Given the description of an element on the screen output the (x, y) to click on. 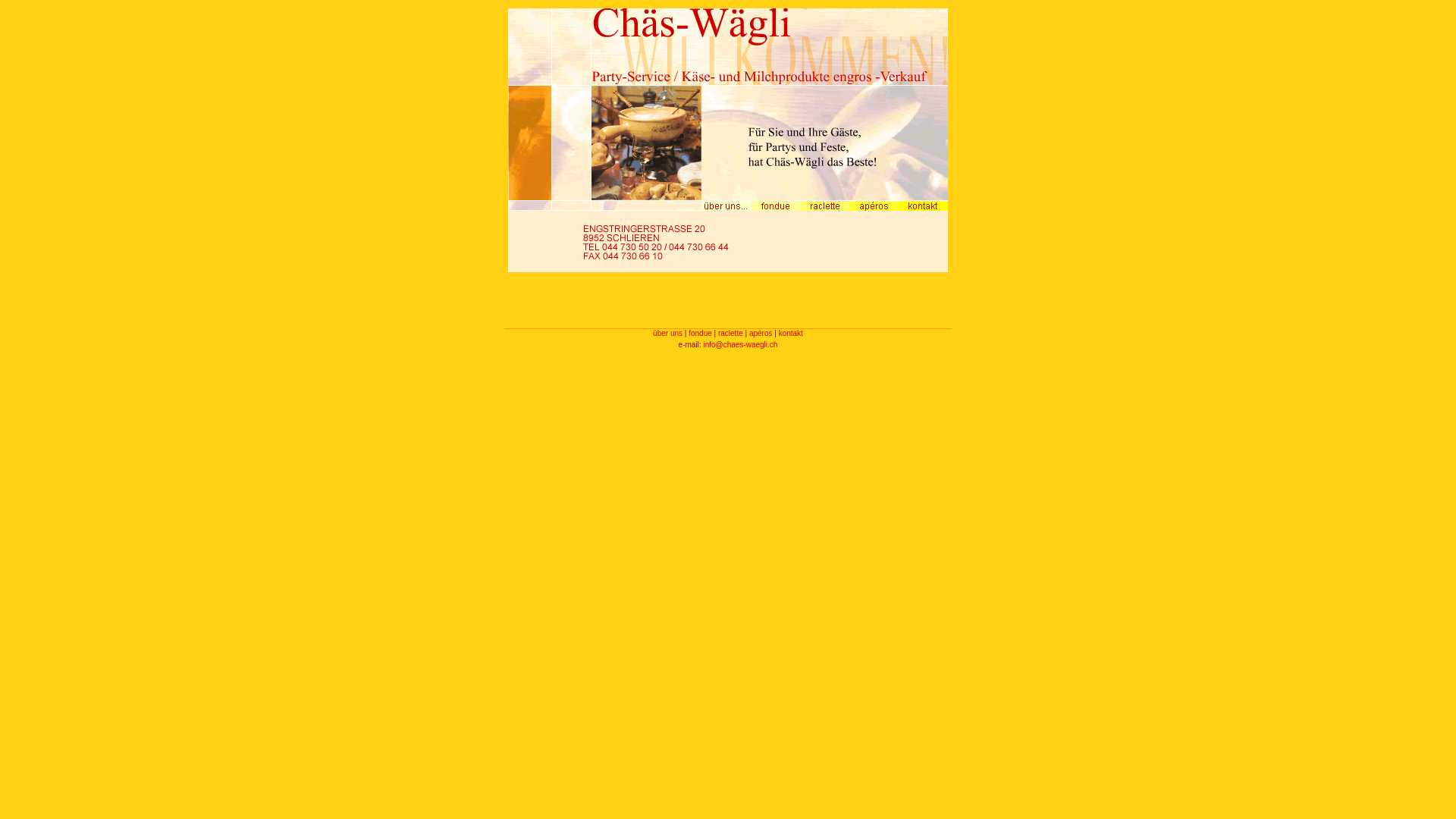
info@chaes-waegli.ch Element type: text (739, 344)
raclette Element type: text (730, 333)
fondue Element type: text (700, 333)
kontakt Element type: text (790, 333)
